Given the description of an element on the screen output the (x, y) to click on. 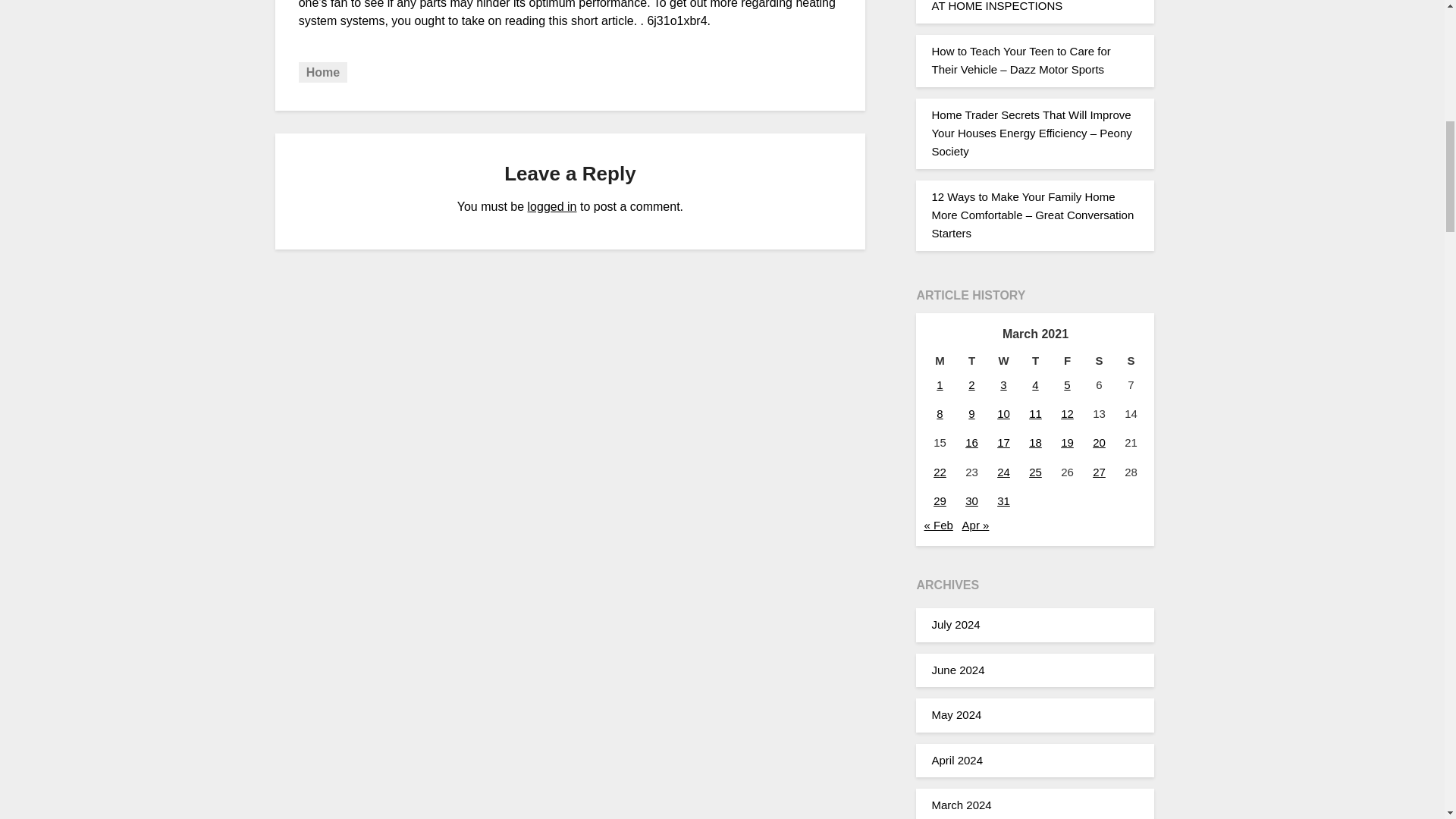
Tuesday (971, 361)
Monday (939, 361)
29 (939, 500)
Friday (1067, 361)
25 (1035, 472)
11 (1035, 413)
12 (1067, 413)
17 (1003, 441)
Thursday (1035, 361)
22 (939, 472)
Home (322, 72)
logged in (551, 205)
Saturday (1099, 361)
24 (1003, 472)
27 (1099, 472)
